Given the description of an element on the screen output the (x, y) to click on. 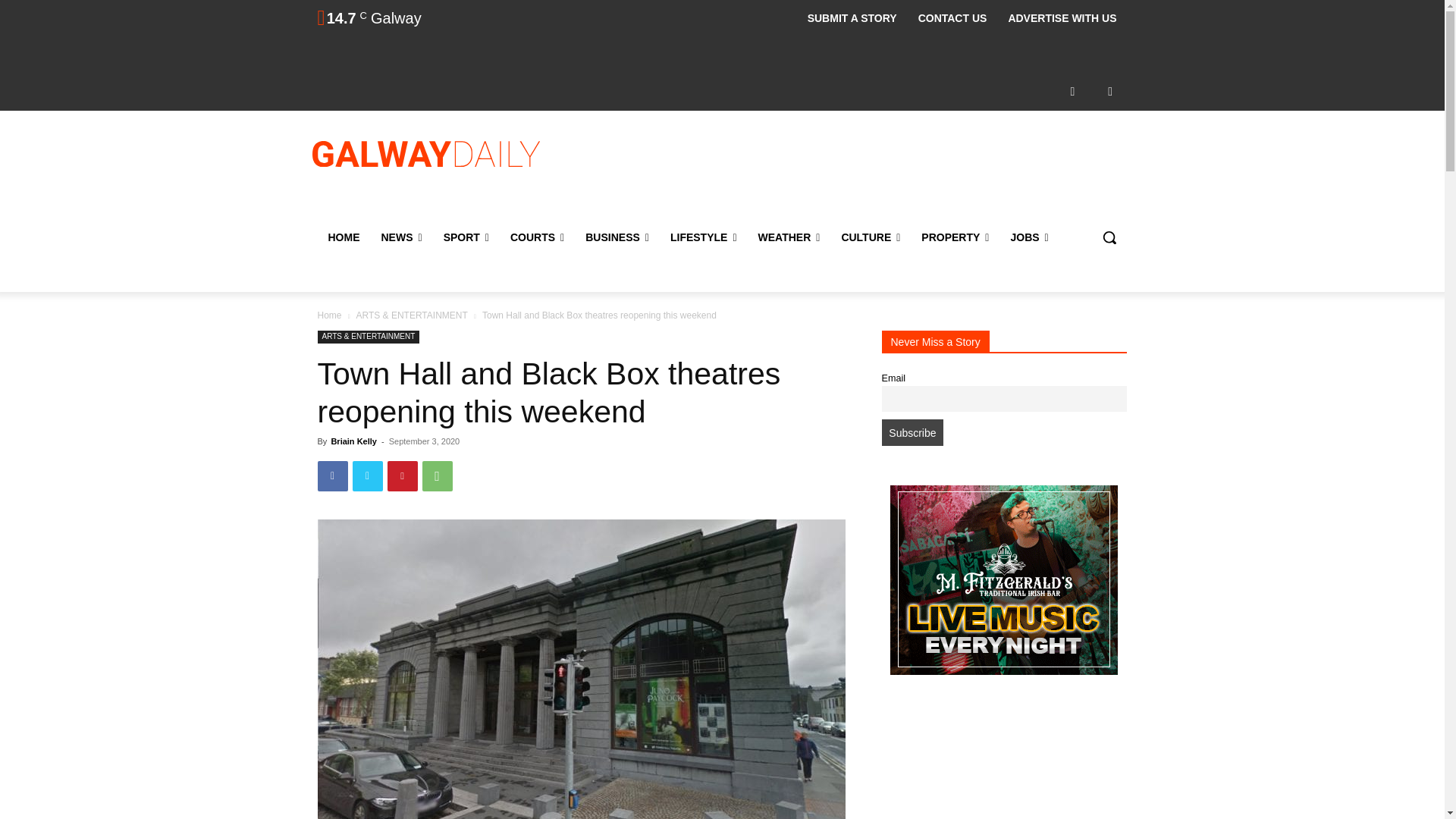
Facebook (1072, 91)
Subscribe (911, 432)
Advertisement (846, 172)
Twitter (1109, 91)
